Given the description of an element on the screen output the (x, y) to click on. 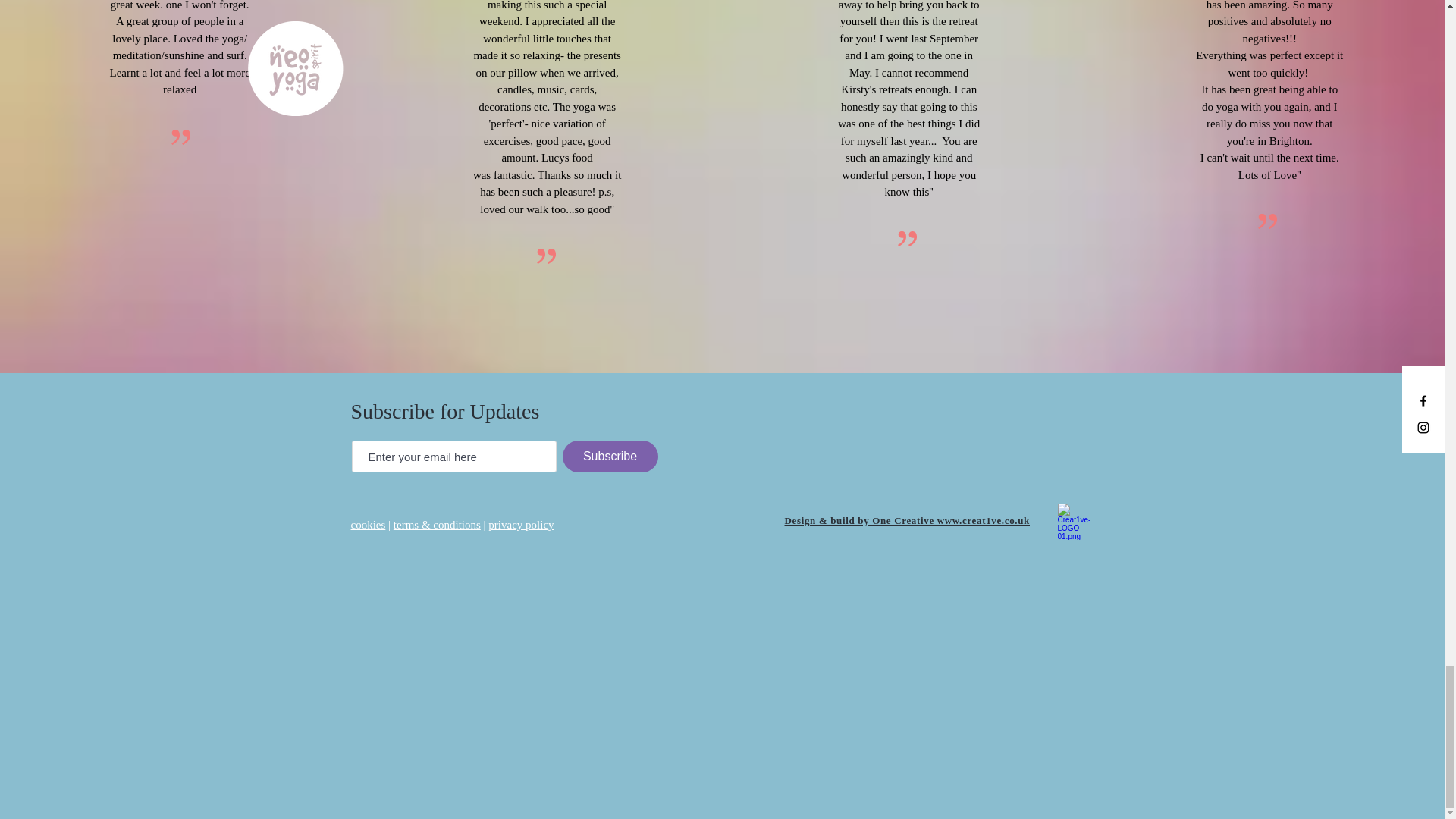
privacy policy (520, 524)
cookies (367, 524)
Subscribe (610, 456)
